Given the description of an element on the screen output the (x, y) to click on. 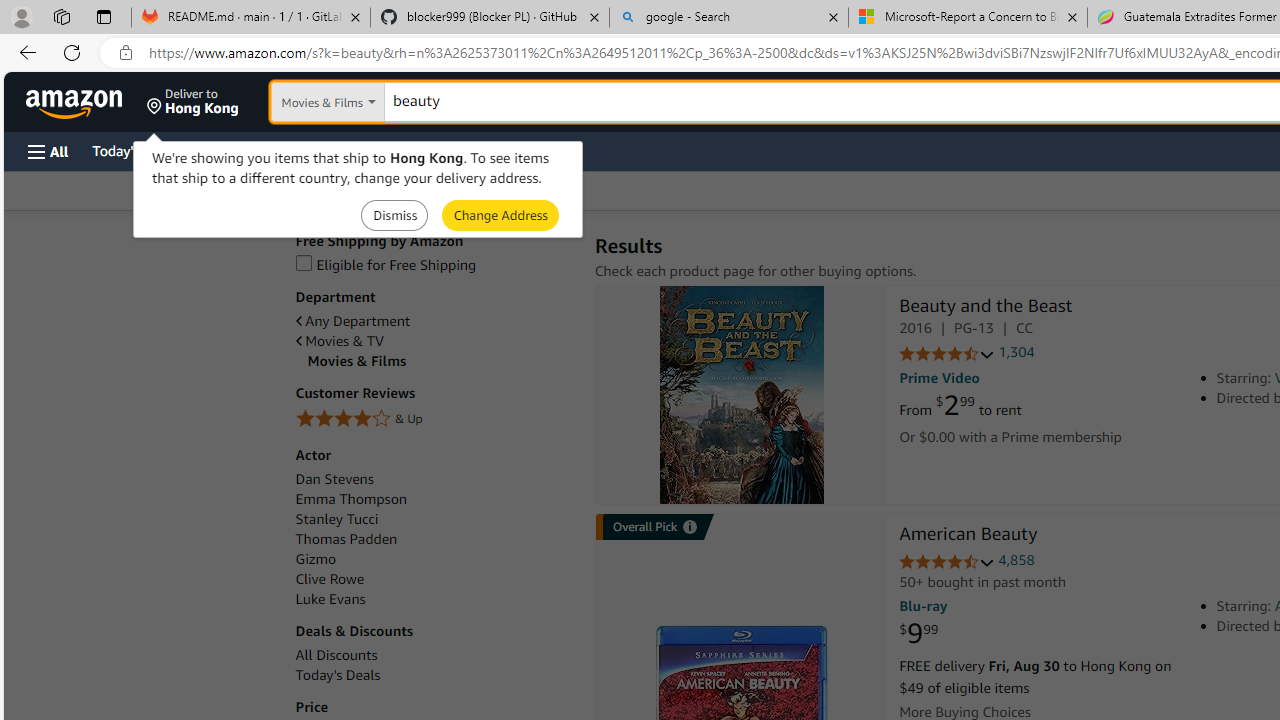
Eligible for Free Shipping (434, 265)
Gizmo (434, 559)
Emma Thompson (350, 499)
Registry (360, 150)
4,858 (1016, 560)
Emma Thompson (434, 499)
Customer Service (256, 150)
Submit (499, 214)
Movies & Films (440, 361)
